Given the description of an element on the screen output the (x, y) to click on. 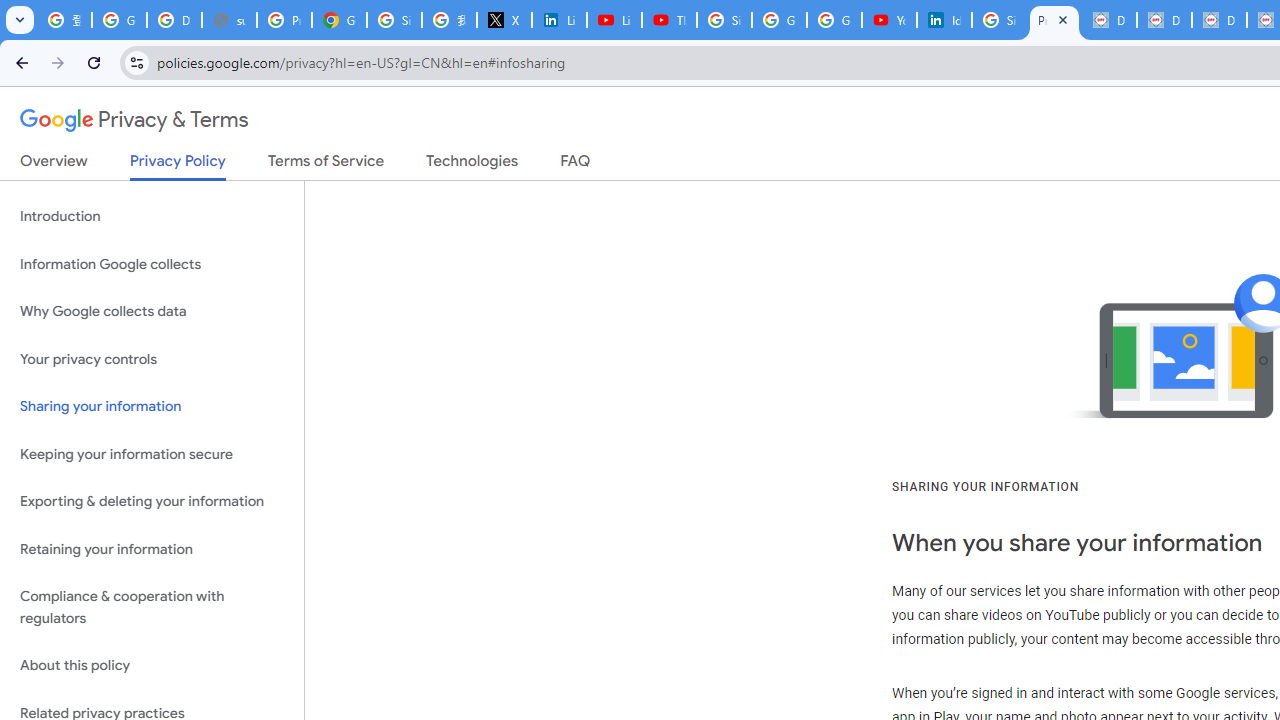
Sign in - Google Accounts (394, 20)
support.google.com - Network error (229, 20)
Data Privacy Framework (1163, 20)
Data Privacy Framework (1218, 20)
